Given the description of an element on the screen output the (x, y) to click on. 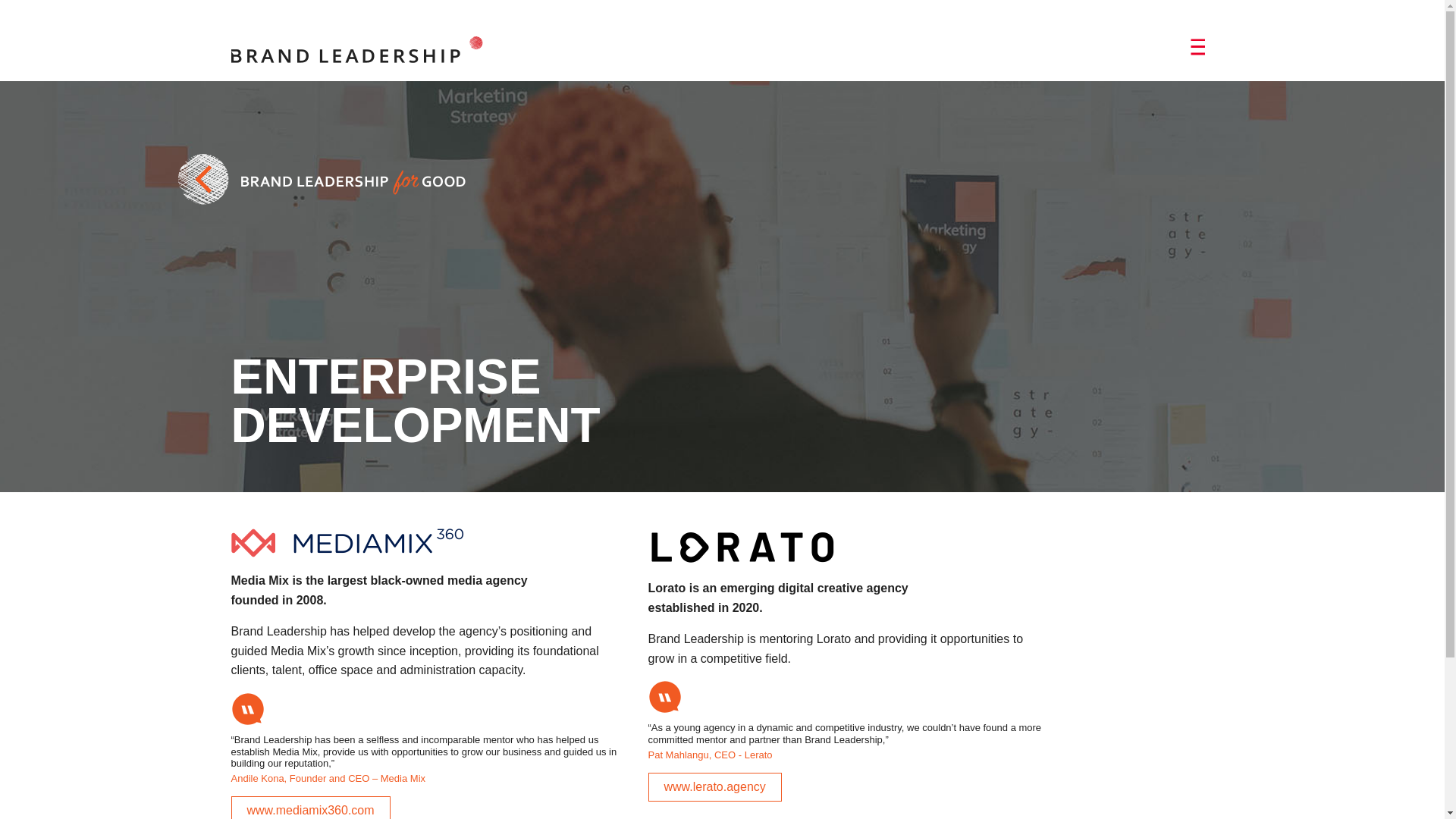
www.lerato.agency (713, 787)
www.mediamix360.com (310, 807)
